Given the description of an element on the screen output the (x, y) to click on. 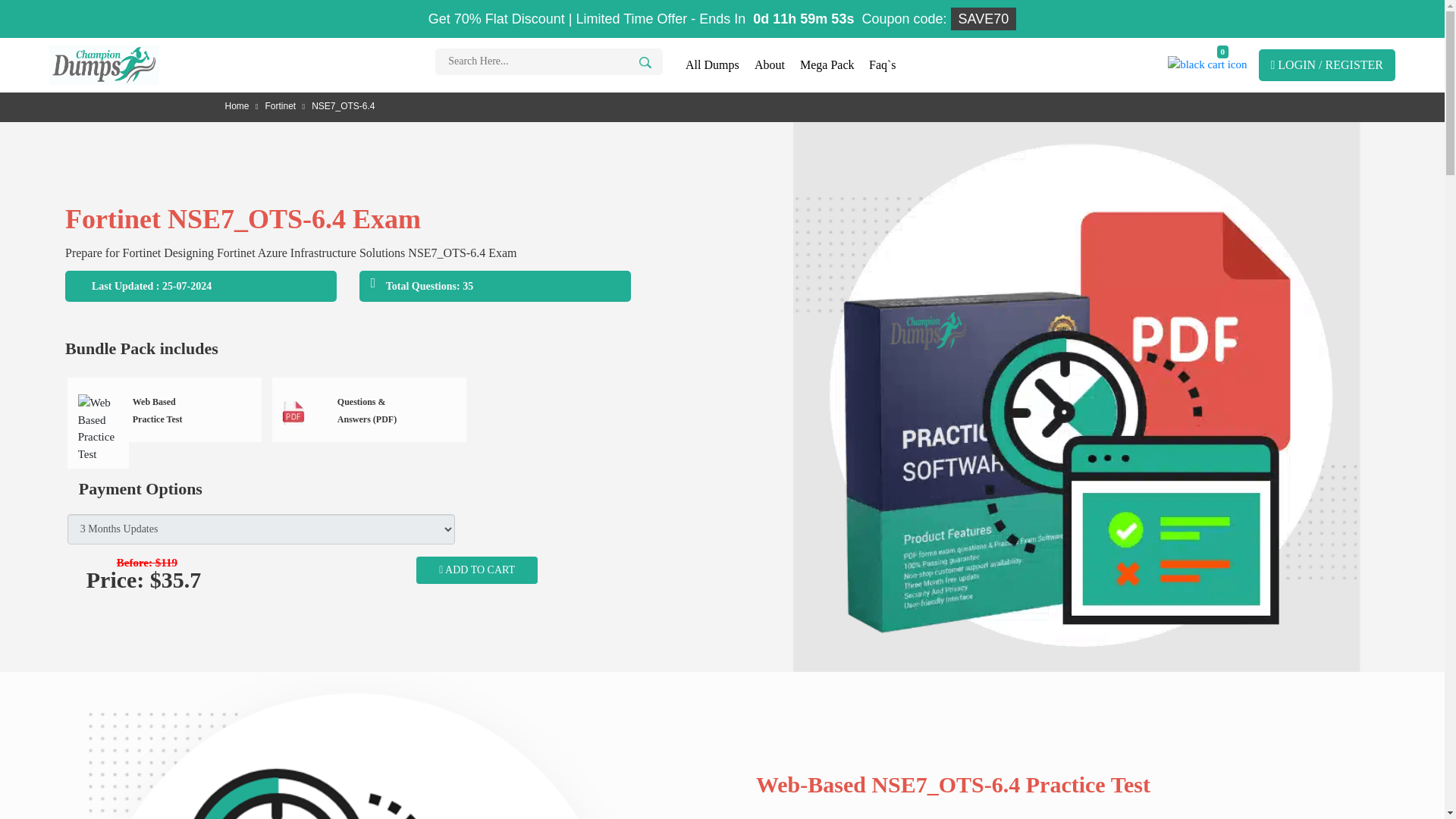
Fortinet (286, 105)
0 (1206, 70)
Mega Pack (826, 64)
All Dumps (712, 64)
Home (243, 105)
ADD TO CART (476, 569)
About (769, 64)
